Given the description of an element on the screen output the (x, y) to click on. 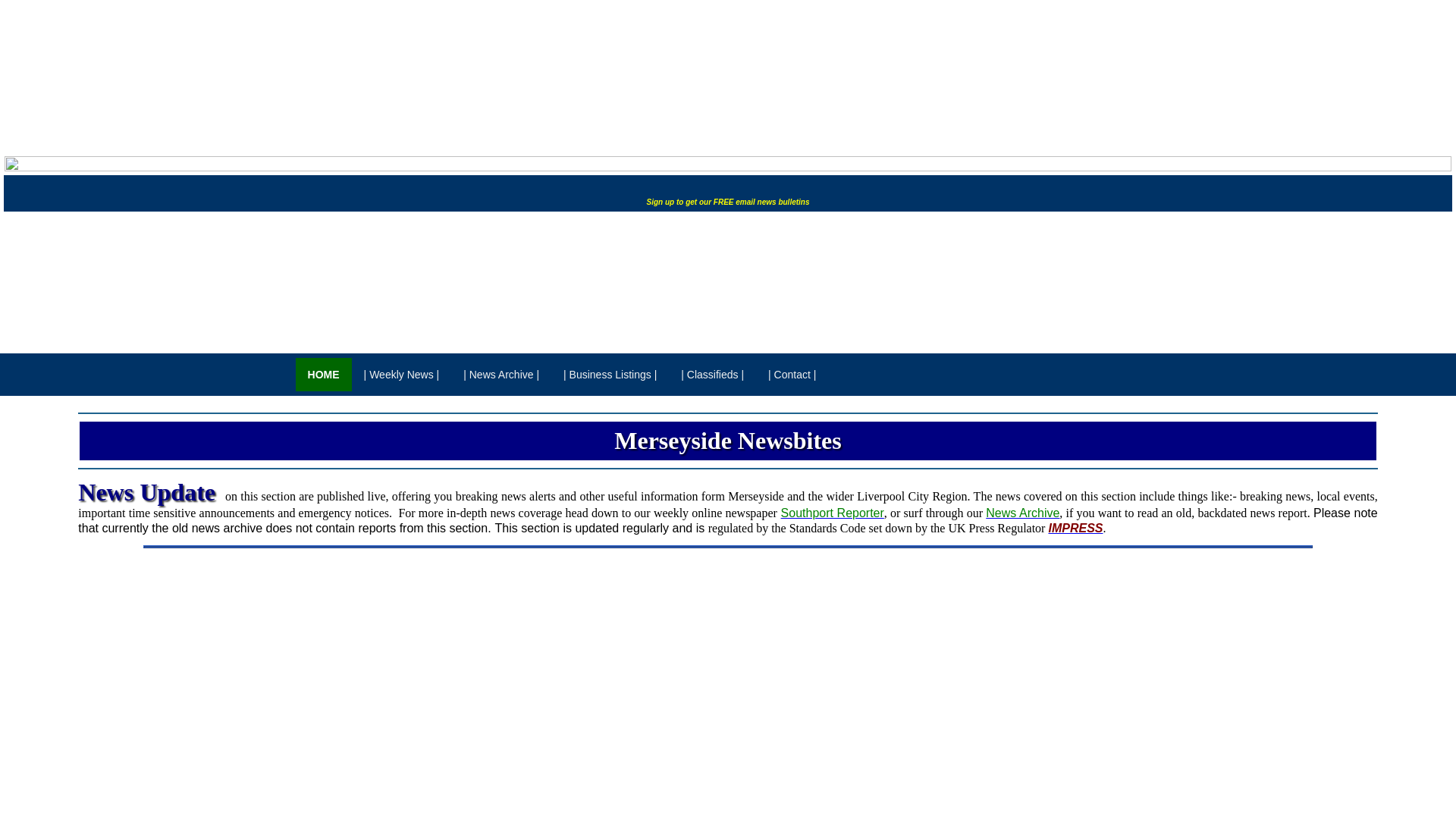
IMPRESS (1075, 527)
News Archive (1022, 512)
Sign up to get our FREE email news bulletins (727, 201)
HOME (323, 374)
Southport Reporter (831, 512)
IMPRESS, the independent monitor for the UK's press (1075, 527)
